Given the description of an element on the screen output the (x, y) to click on. 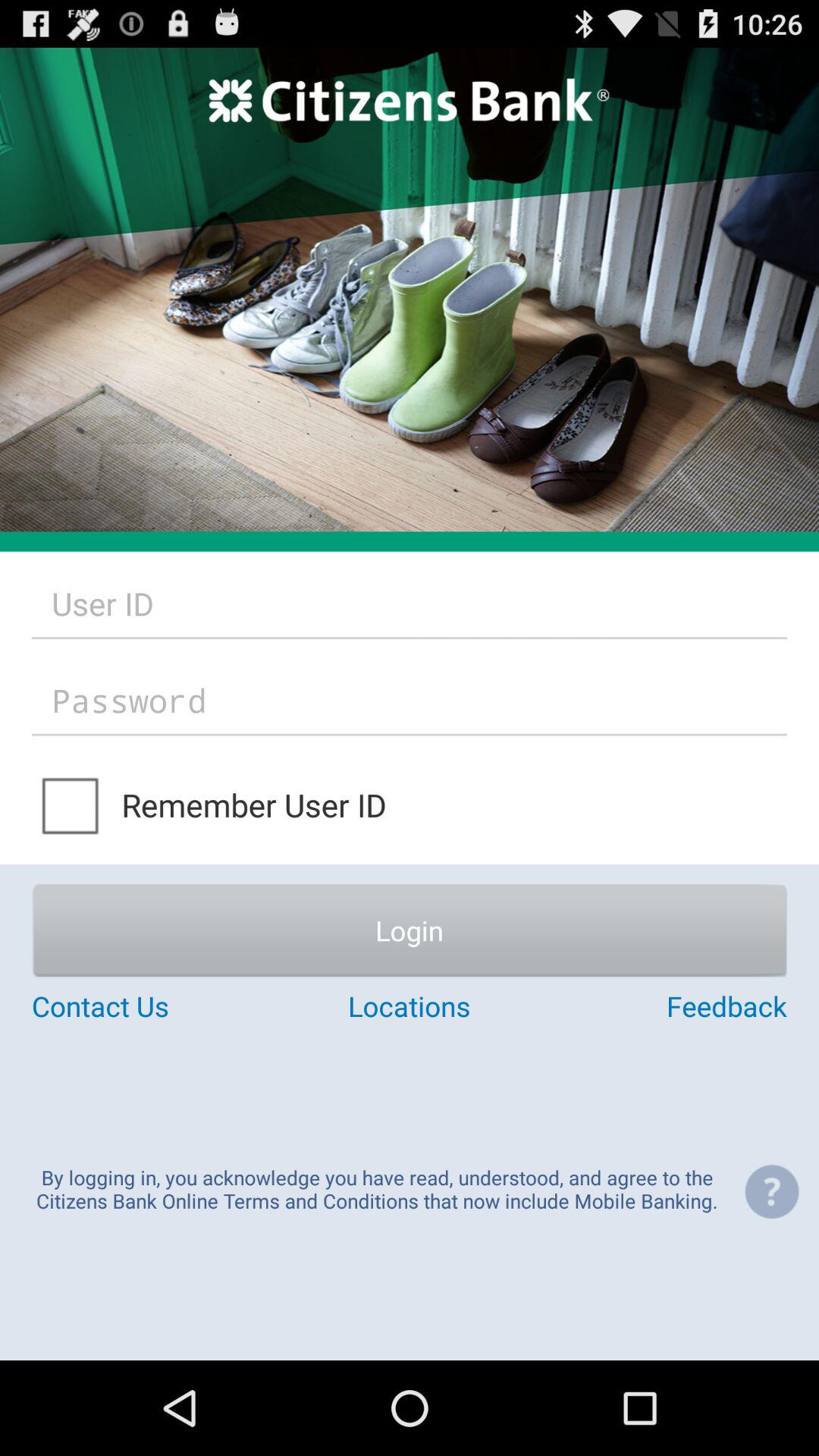
choose button above login (71, 804)
